Given the description of an element on the screen output the (x, y) to click on. 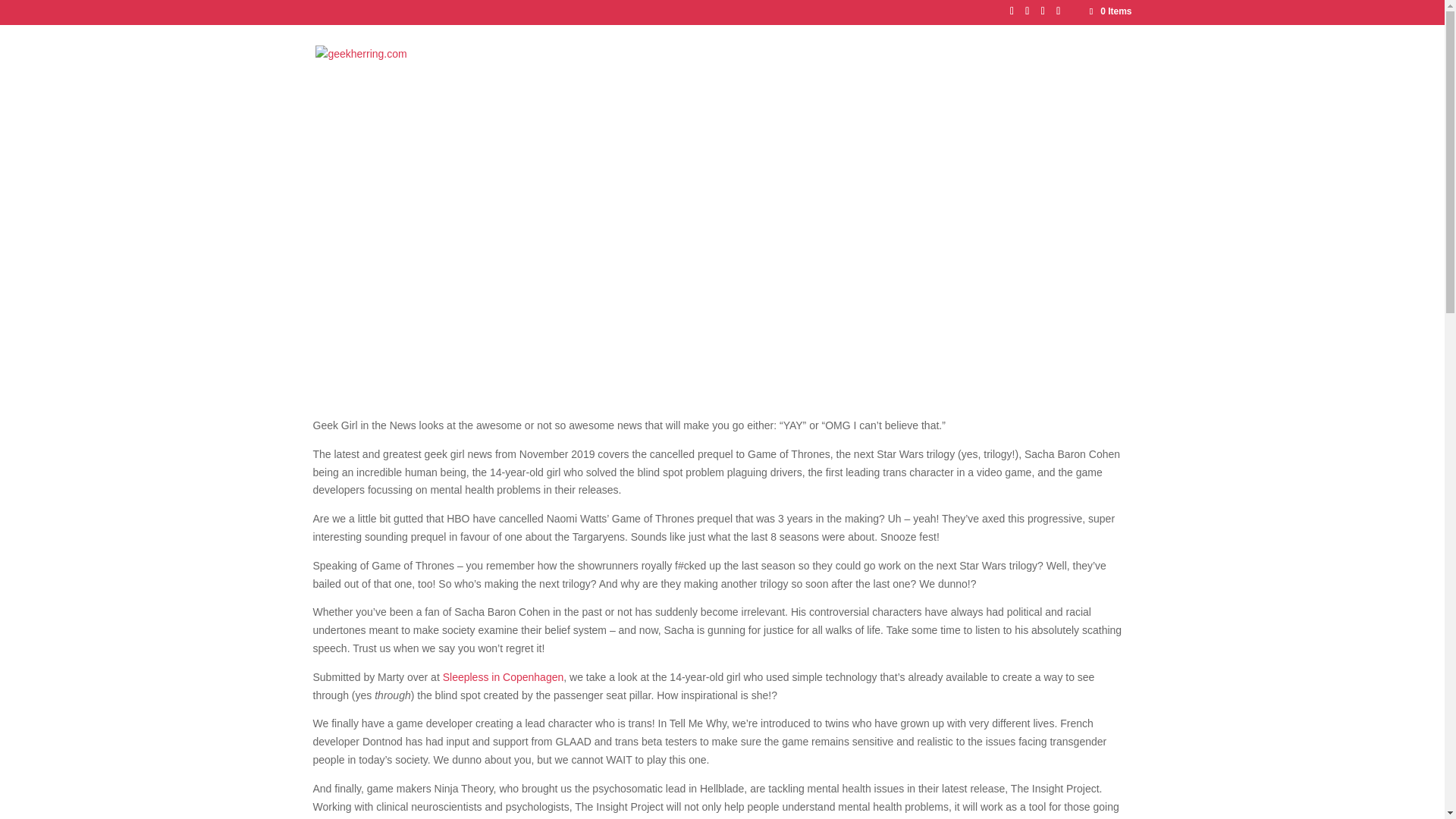
Sleepless in Copenhagen (503, 676)
ARTICLES (931, 74)
ABOUT US (1005, 74)
EPISODES (858, 74)
0 Items (1108, 10)
MERCH STORE (1091, 74)
